Given the description of an element on the screen output the (x, y) to click on. 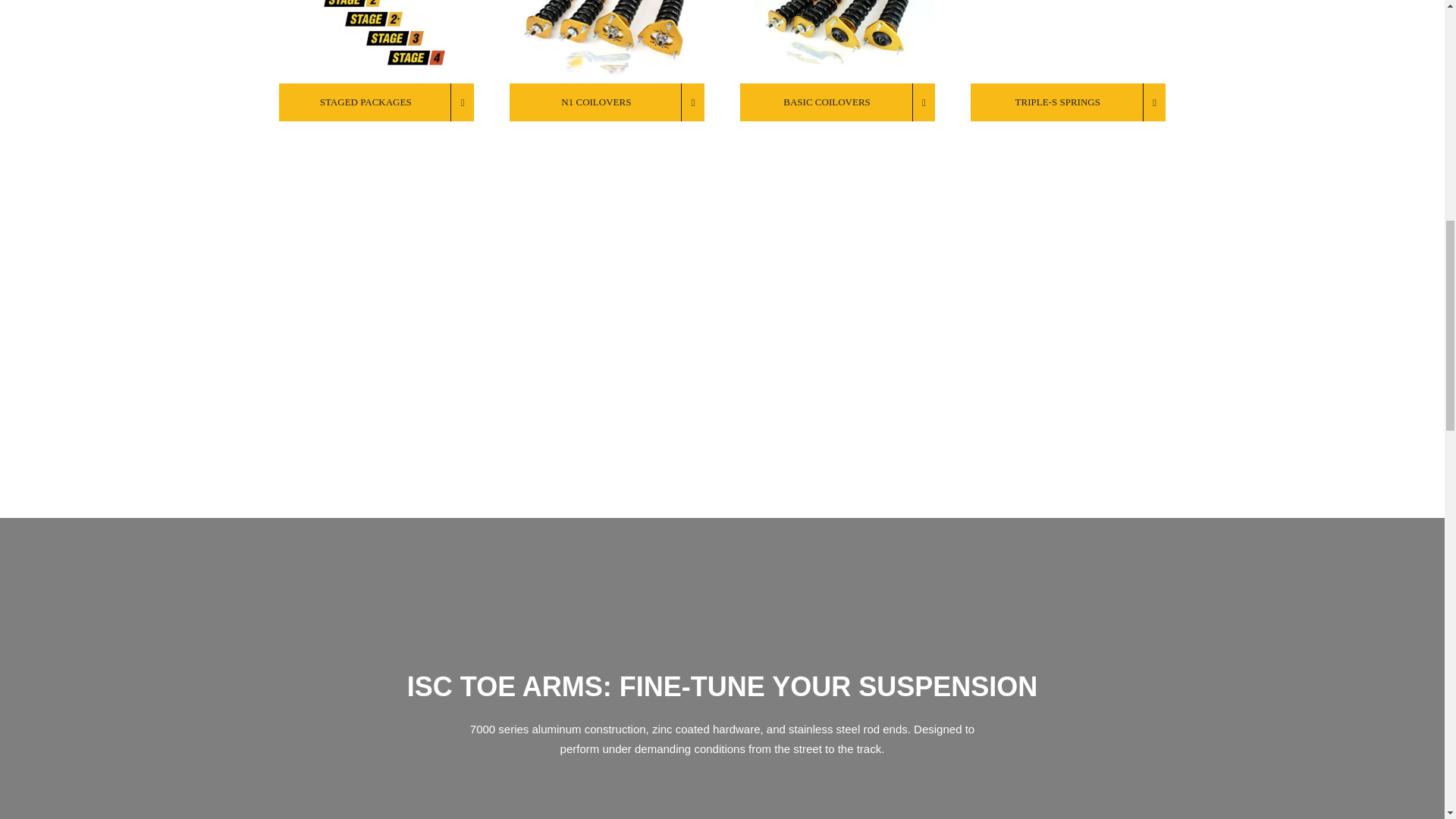
staged packages (376, 41)
ISC N1 Coilovers (606, 41)
ISC Basic Coilovers (836, 41)
953786294 (1068, 41)
